Given the description of an element on the screen output the (x, y) to click on. 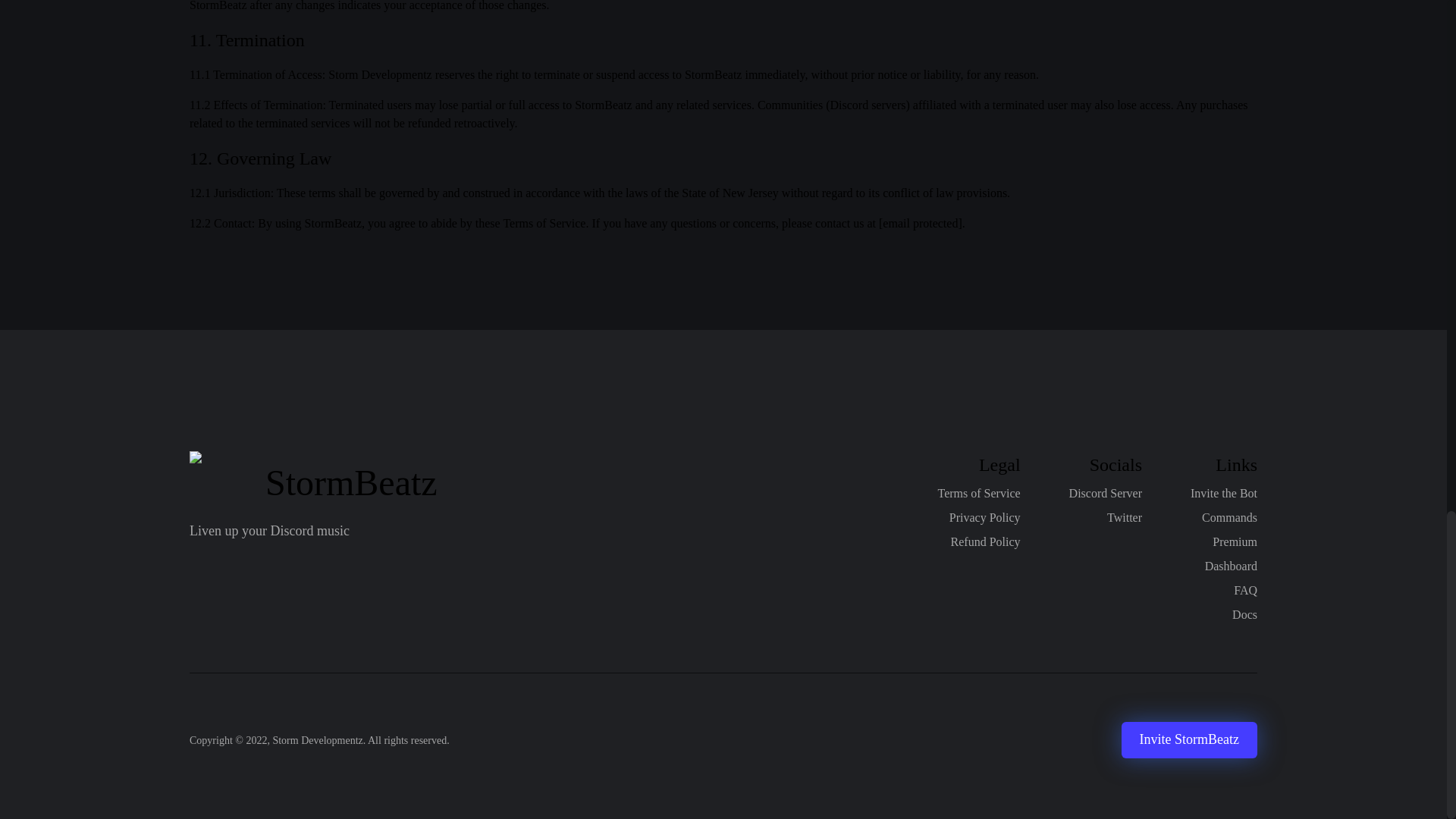
Discord Server (1104, 493)
Dashboard (1231, 566)
Premium (1234, 542)
Refund Policy (985, 542)
Privacy Policy (984, 517)
Terms of Service (978, 493)
FAQ (1245, 590)
Docs (1244, 615)
Commands (1229, 517)
Twitter (1123, 517)
Invite the Bot (1224, 493)
Invite StormBeatz (1189, 739)
